Given the description of an element on the screen output the (x, y) to click on. 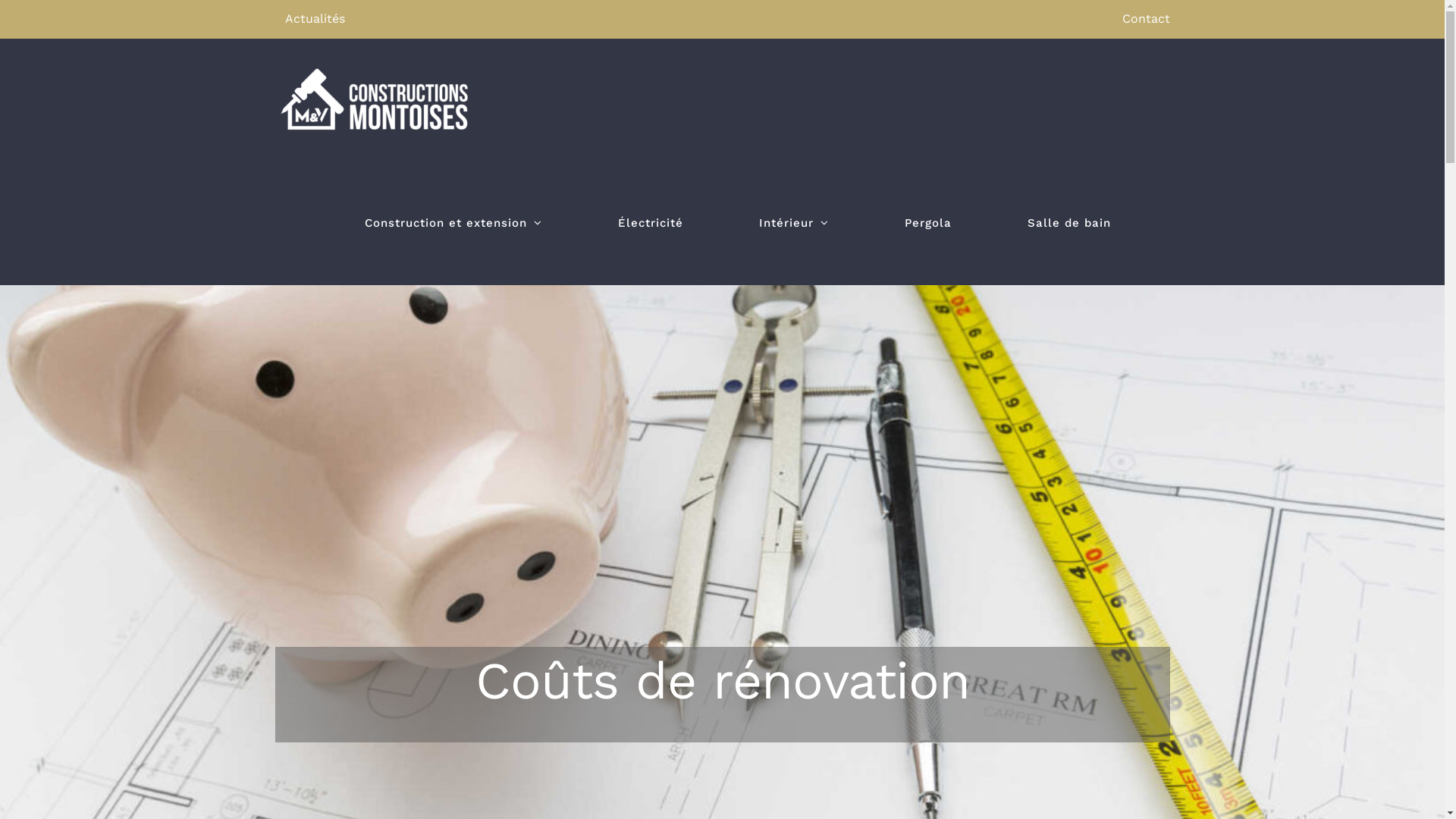
Salle de bain Element type: text (1068, 222)
Construction et extension Element type: text (452, 222)
Pergola Element type: text (927, 222)
Contact Element type: text (1146, 18)
